Given the description of an element on the screen output the (x, y) to click on. 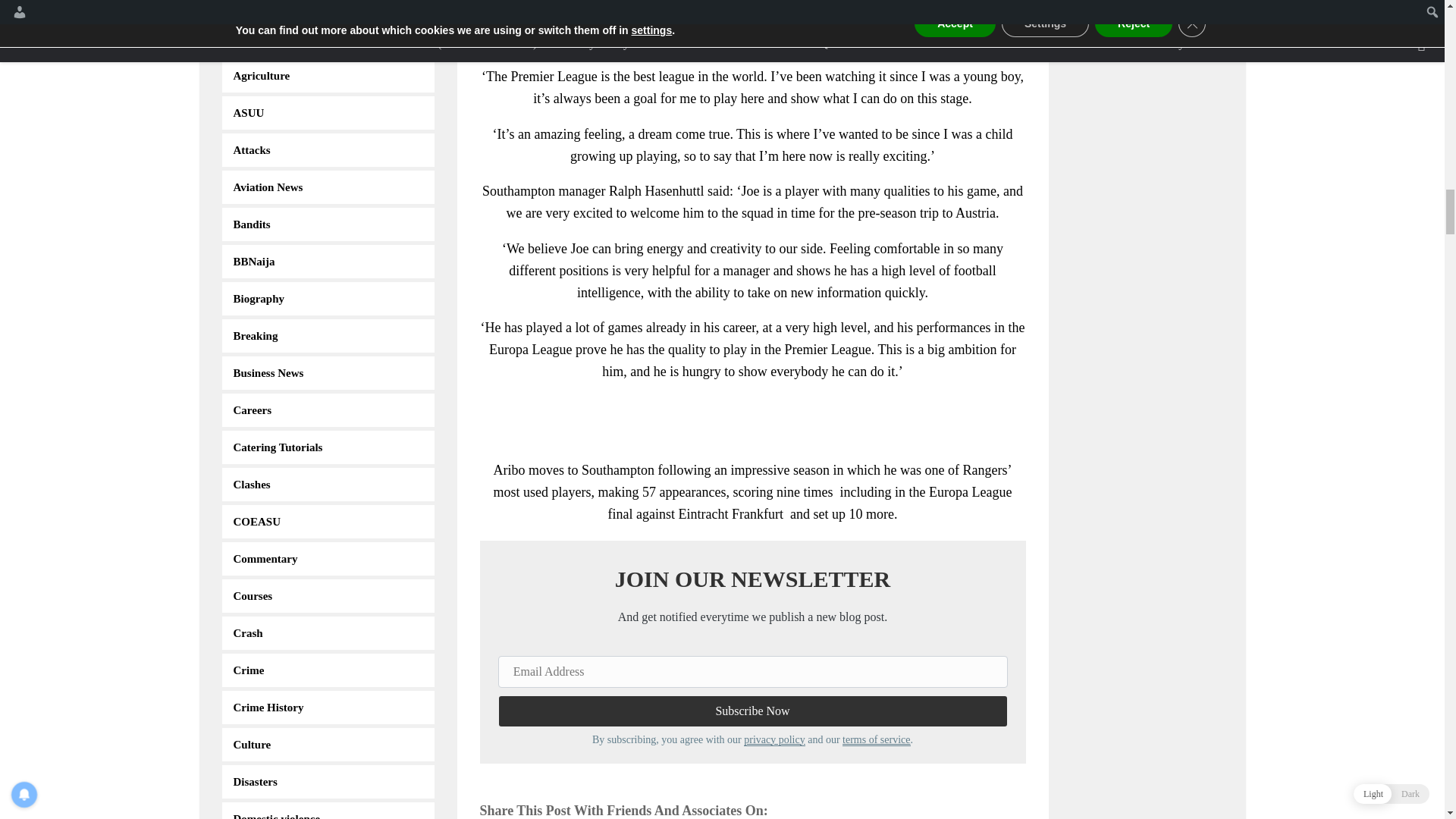
Subscribe Now (752, 711)
